Given the description of an element on the screen output the (x, y) to click on. 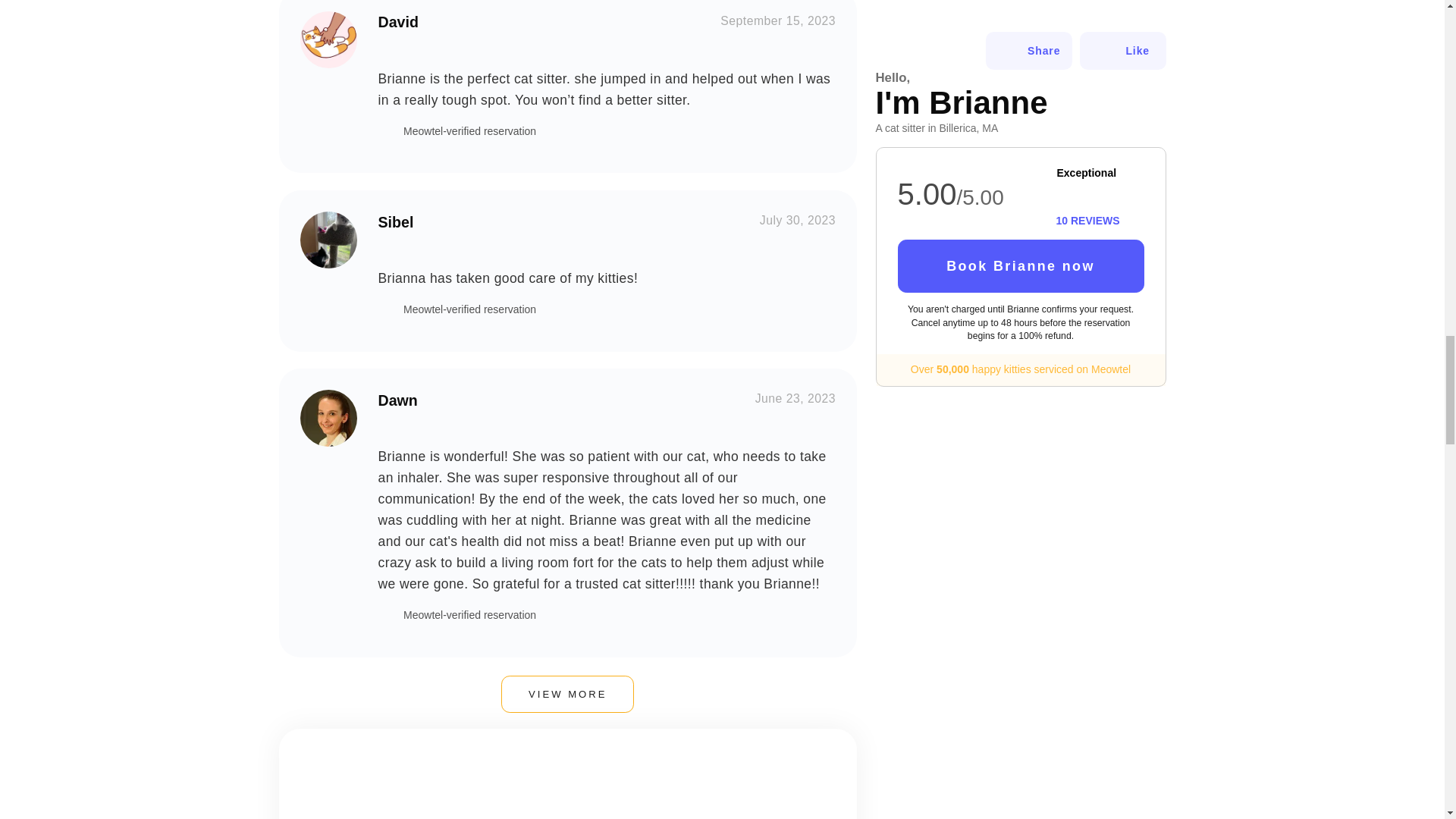
David (327, 39)
Sibel (327, 239)
VIEW MORE (566, 694)
